Given the description of an element on the screen output the (x, y) to click on. 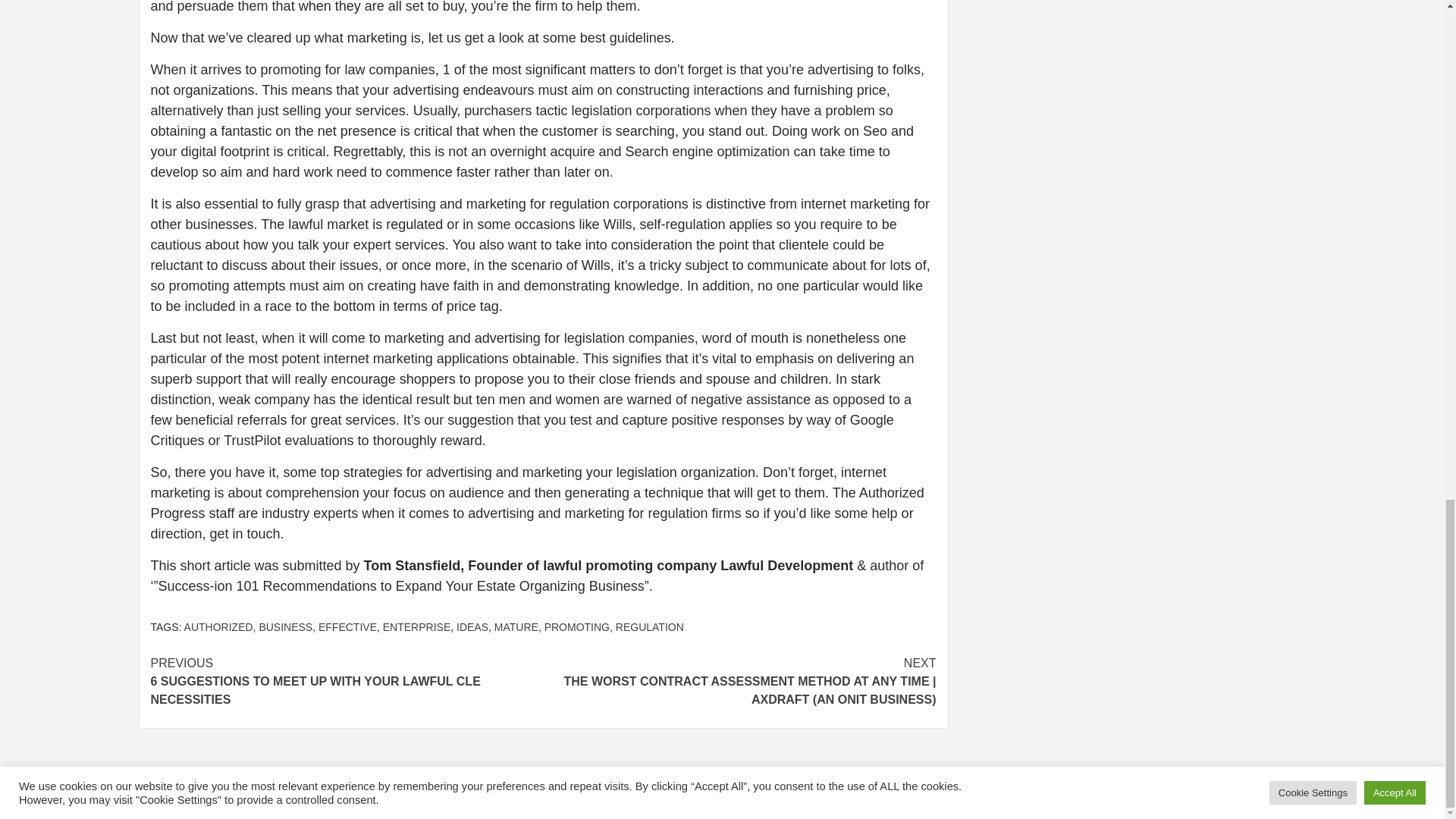
ENTERPRISE (415, 626)
Magazine 7 (785, 793)
EFFECTIVE (347, 626)
IDEAS (472, 626)
PROMOTING (577, 626)
BUSINESS (286, 626)
REGULATION (649, 626)
AUTHORIZED (218, 626)
MATURE (516, 626)
